Given the description of an element on the screen output the (x, y) to click on. 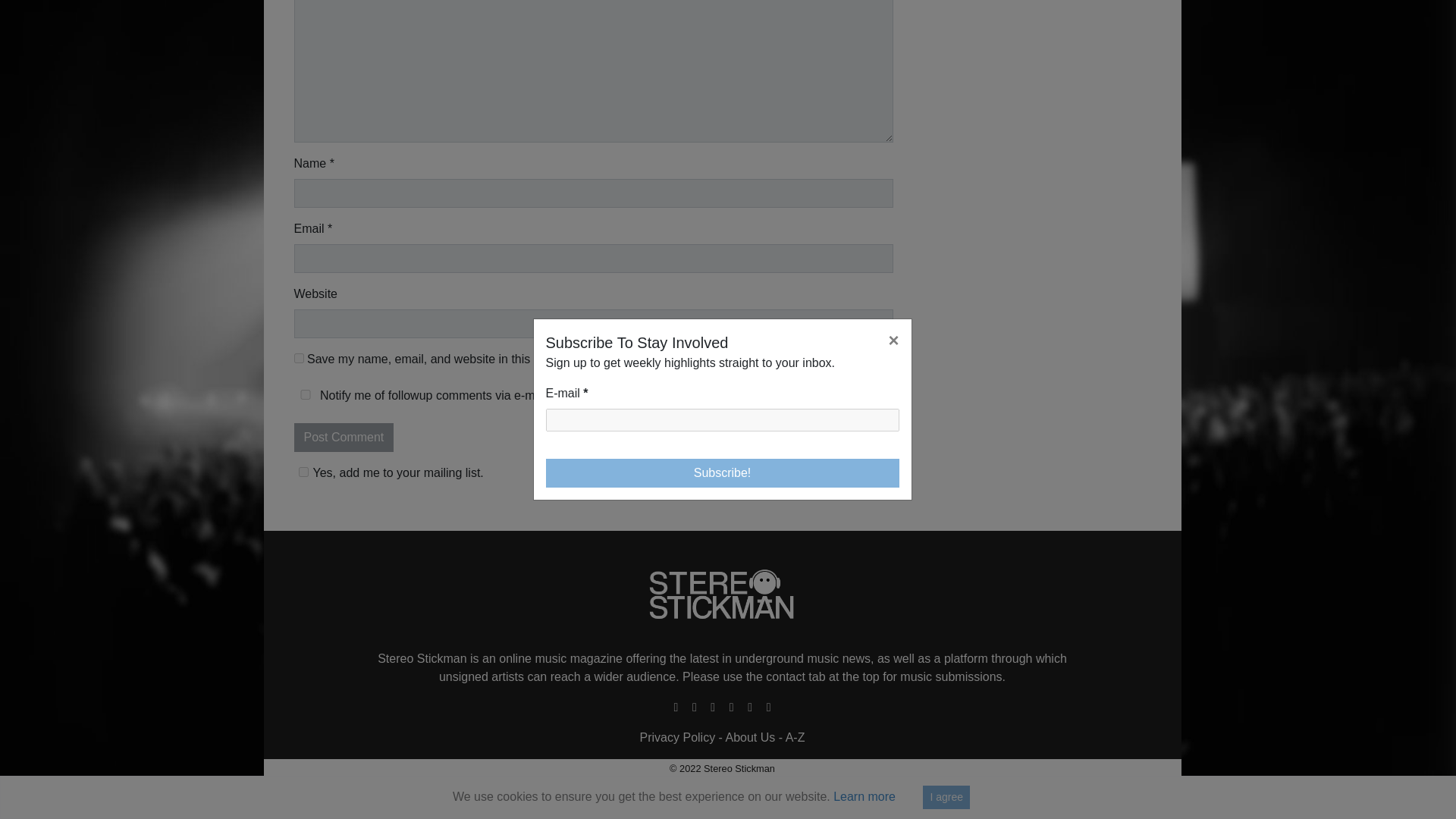
Post Comment (344, 437)
